Given the description of an element on the screen output the (x, y) to click on. 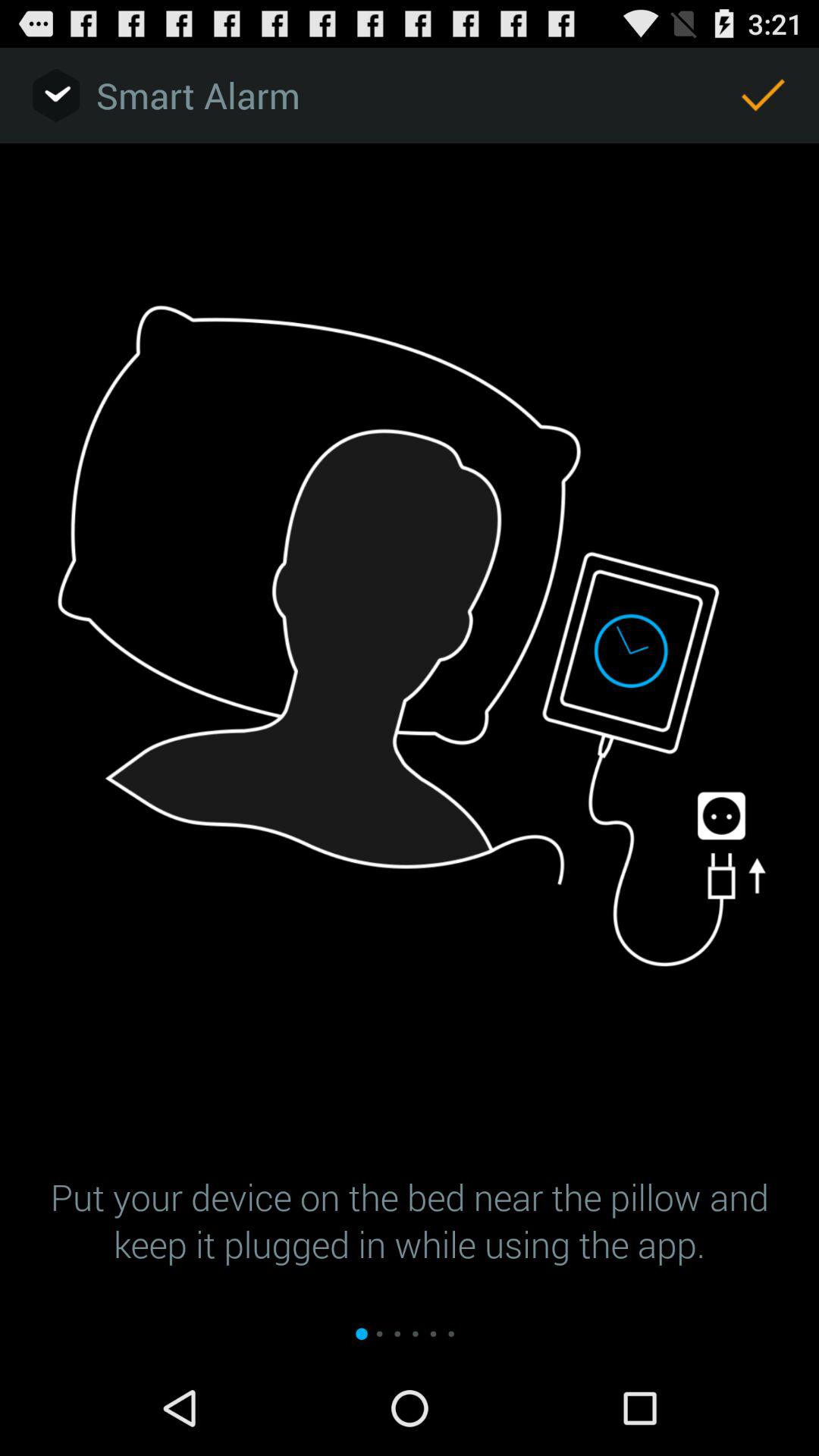
tap icon at the top right corner (763, 95)
